Given the description of an element on the screen output the (x, y) to click on. 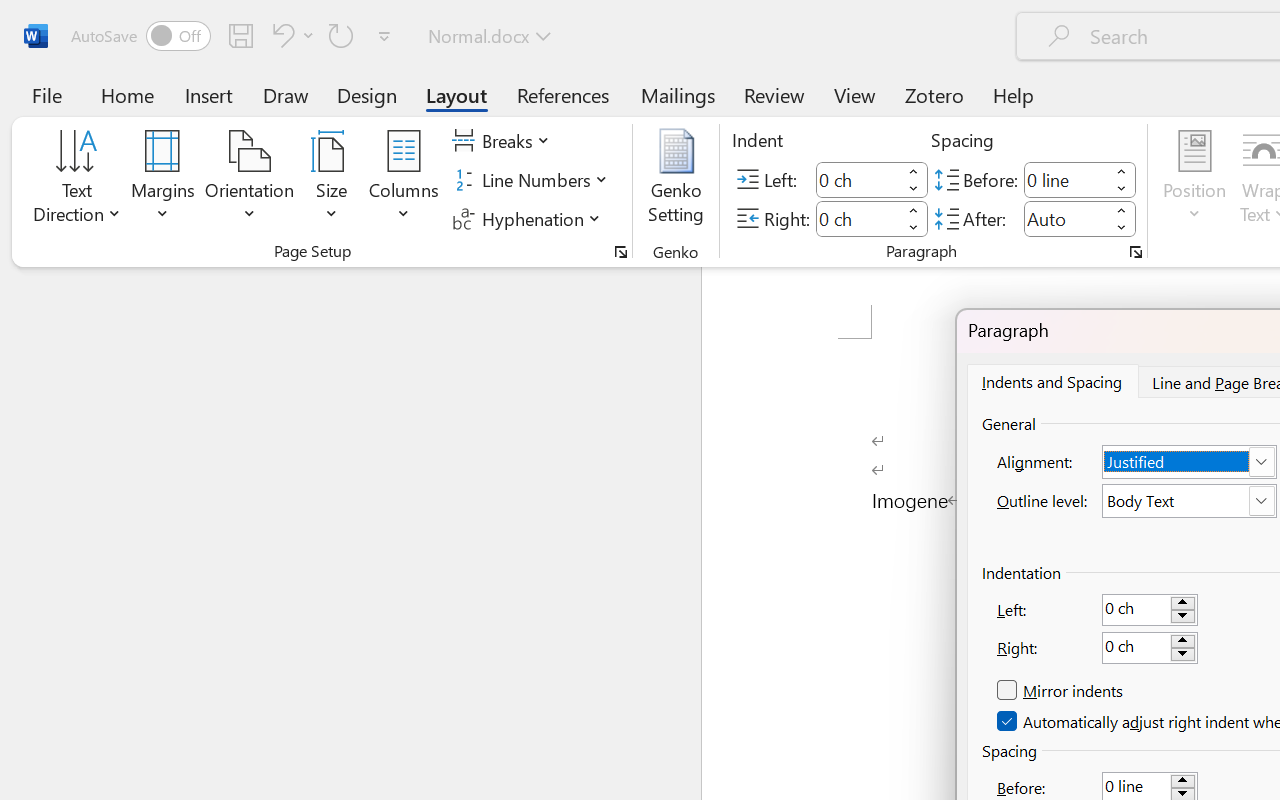
Indent Left (858, 179)
Spacing Before (1066, 179)
Line Numbers (532, 179)
Right: (1150, 648)
Breaks (504, 141)
Spacing After (1066, 218)
Help (1013, 94)
Alignment: (1189, 461)
Undo Paragraph Formatting (290, 35)
Text Direction (77, 179)
Mirror indents (1061, 691)
Outline level: (1189, 501)
Position (1194, 179)
